Given the description of an element on the screen output the (x, y) to click on. 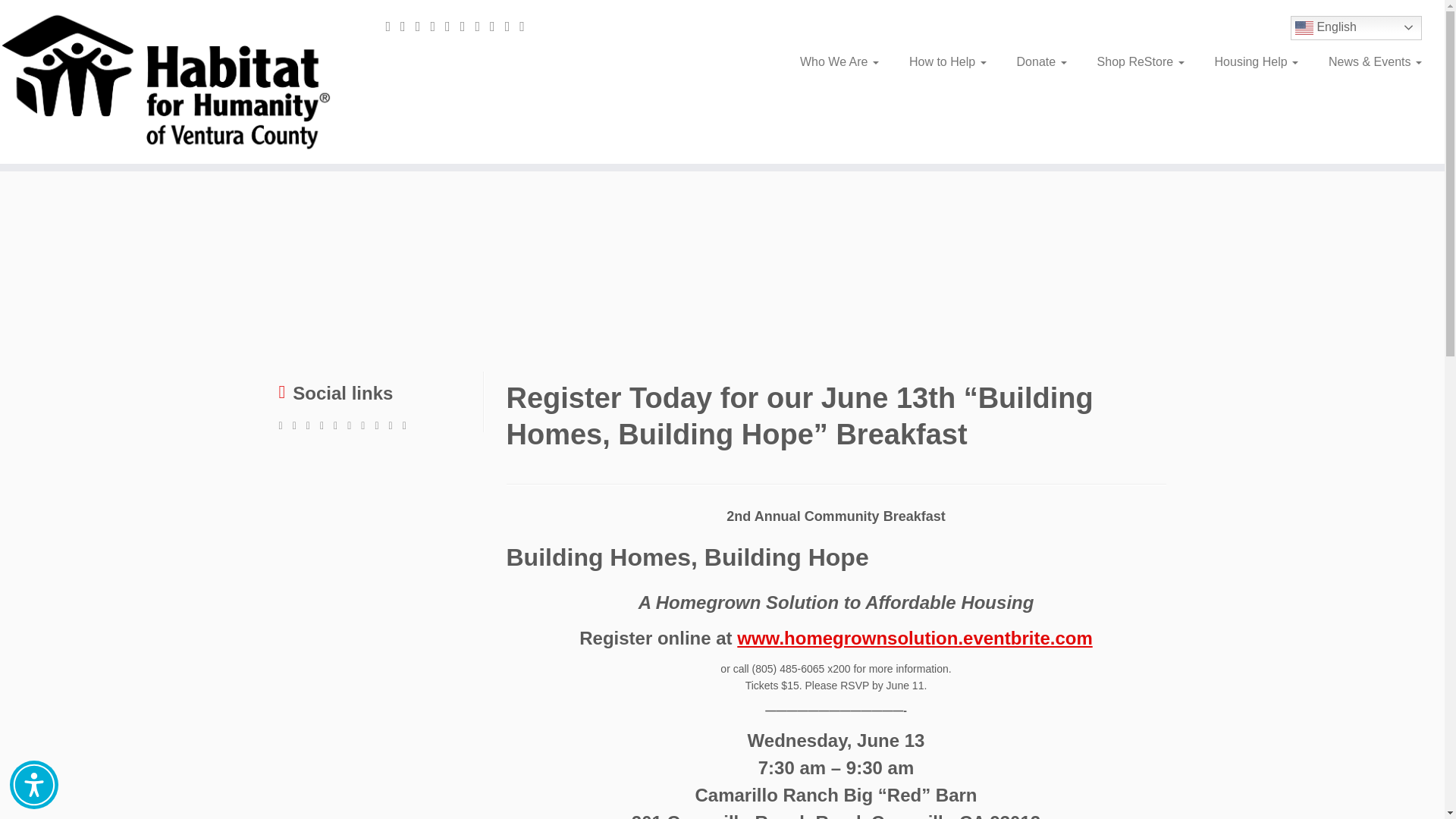
Follow me on LinkedIn (512, 26)
Who We Are (838, 62)
Follow me on Facebook (437, 26)
How to Help (947, 62)
Pin me on Pinterest (497, 26)
Follow me on Twitter (422, 26)
Follow me on Instagram (468, 26)
Follow me on Yelp (526, 26)
Donate (1041, 62)
E-mail (407, 26)
Accessibility Menu (34, 784)
Follow me on Youtube (481, 26)
Subscribe to my rss feed (392, 26)
